Given the description of an element on the screen output the (x, y) to click on. 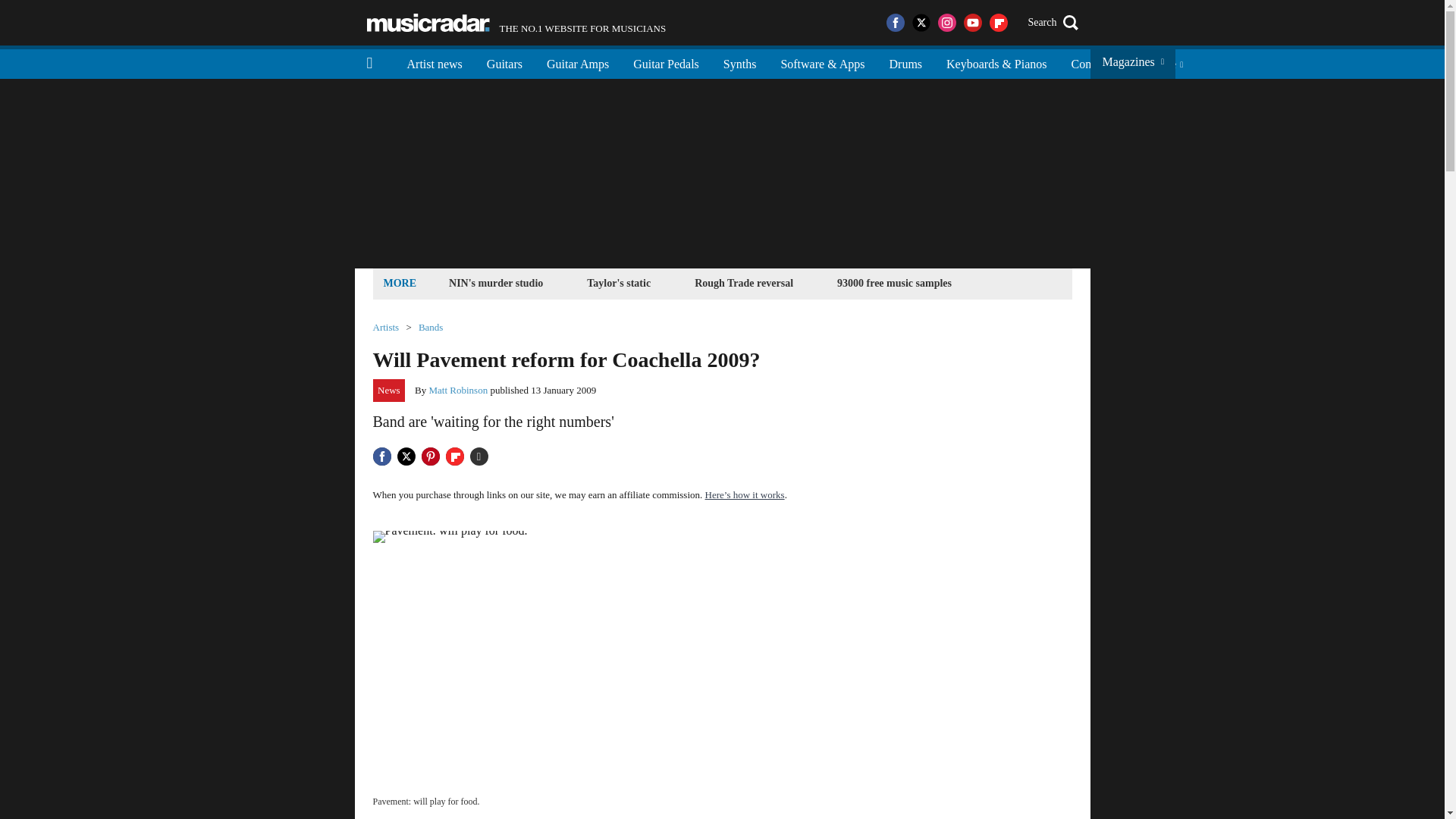
Guitar Amps (577, 61)
Taylor's static (618, 282)
Rough Trade reversal (742, 282)
Controllers (1097, 61)
Drums (905, 61)
Synths (516, 22)
Artist news (739, 61)
Music Radar (434, 61)
93000 free music samples (427, 22)
